Given the description of an element on the screen output the (x, y) to click on. 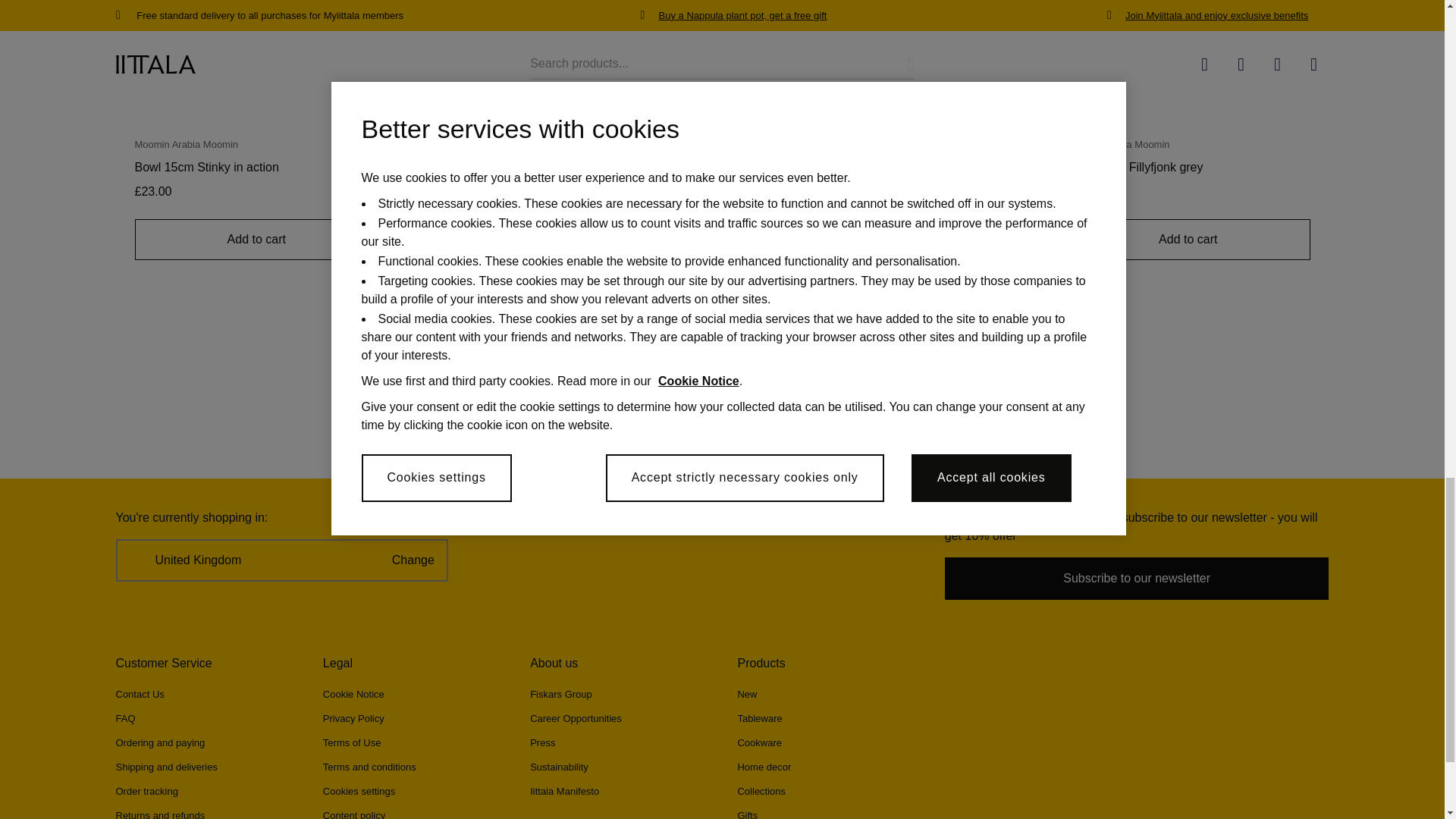
Add to cart (256, 239)
Add to cart (876, 239)
Add to cart (566, 239)
Add to cart (1187, 239)
